Given the description of an element on the screen output the (x, y) to click on. 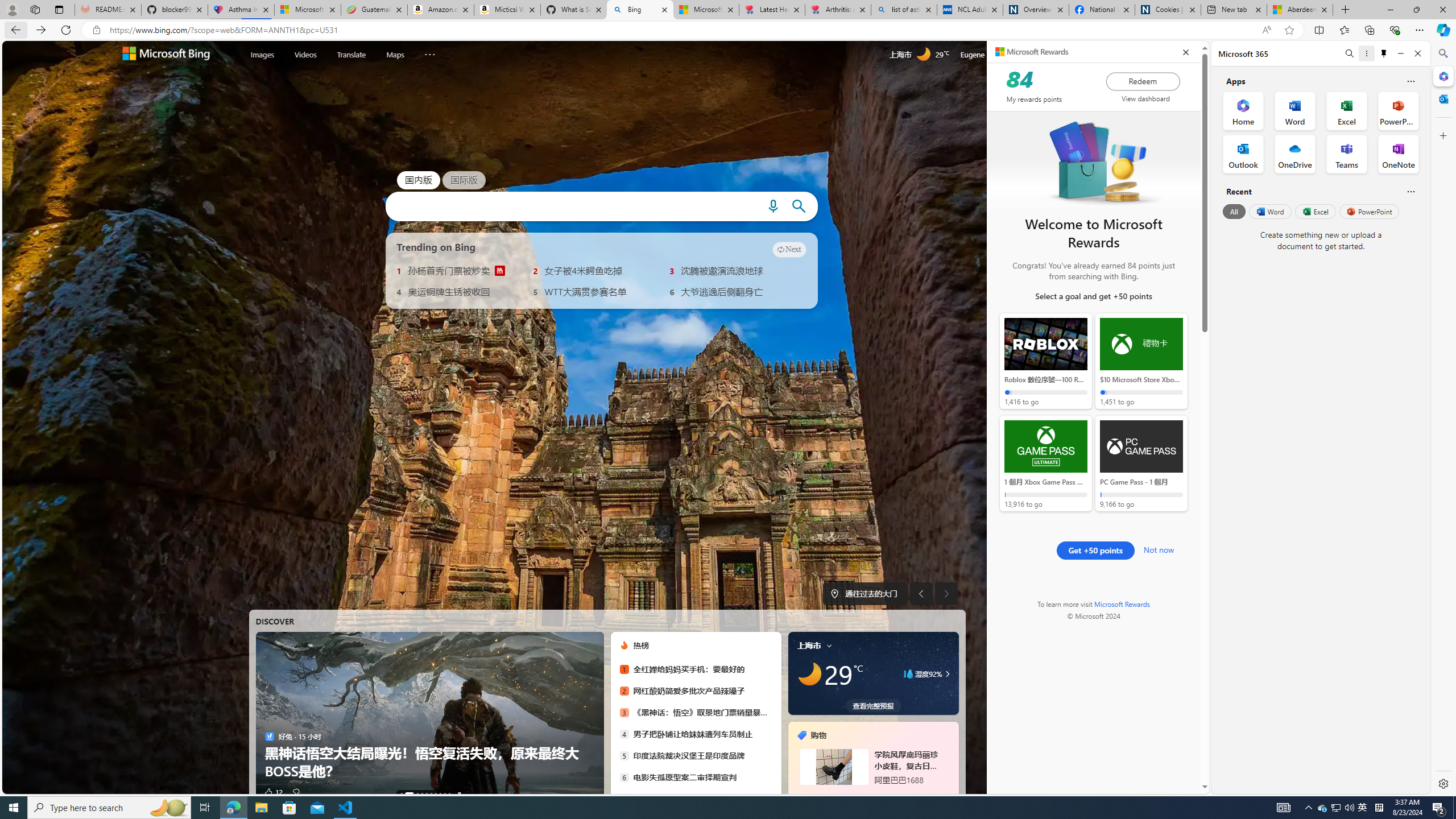
AutomationID: tab-6 (435, 793)
All (1233, 210)
Translate (351, 54)
Eugene (987, 54)
Class: scopes  (352, 53)
tab-4 (866, 795)
